Given the description of an element on the screen output the (x, y) to click on. 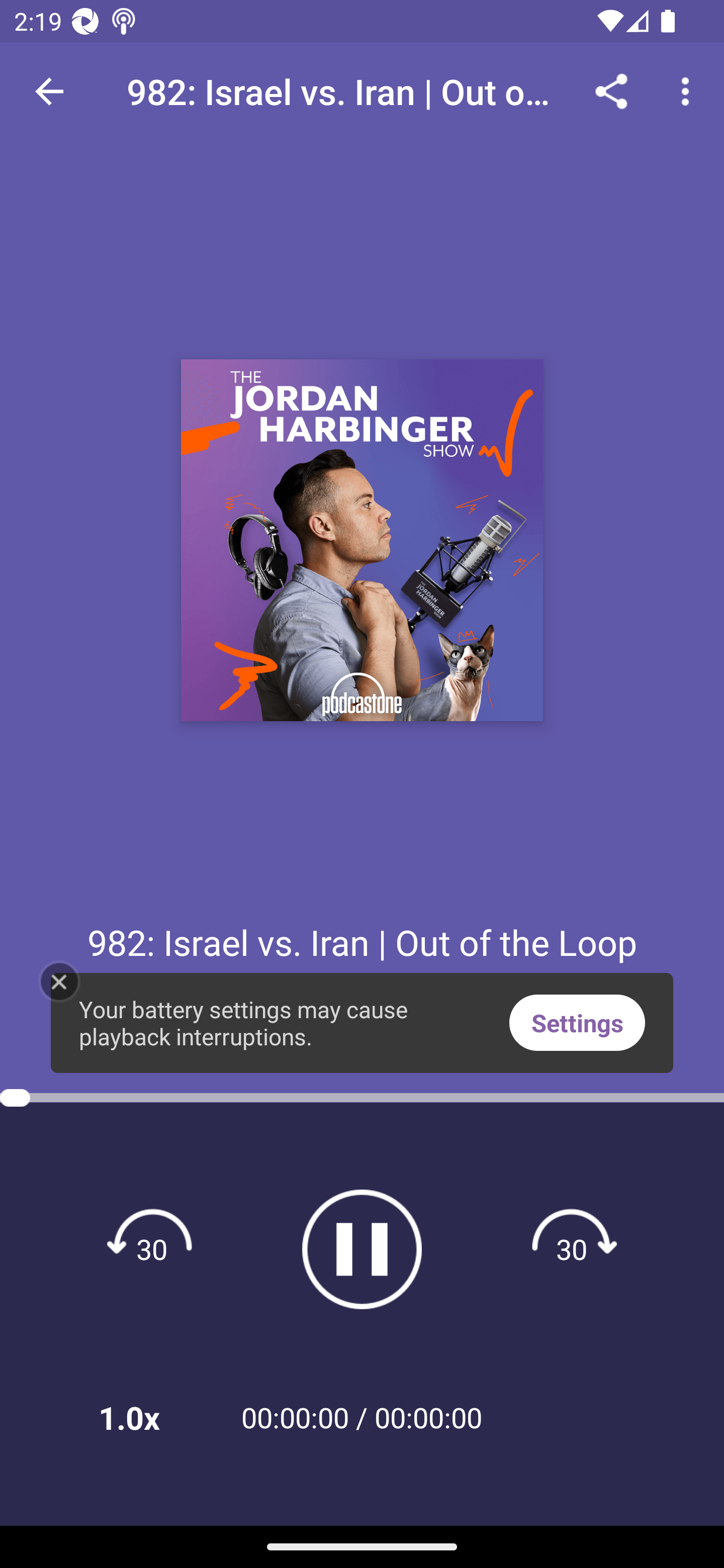
Navigate up (49, 91)
Share... (611, 90)
More options (688, 90)
Settings (576, 1022)
Pause (361, 1249)
Rewind (151, 1248)
Fast forward (571, 1248)
1.0x Playback Speeds (154, 1417)
00:00:00 (428, 1417)
